Given the description of an element on the screen output the (x, y) to click on. 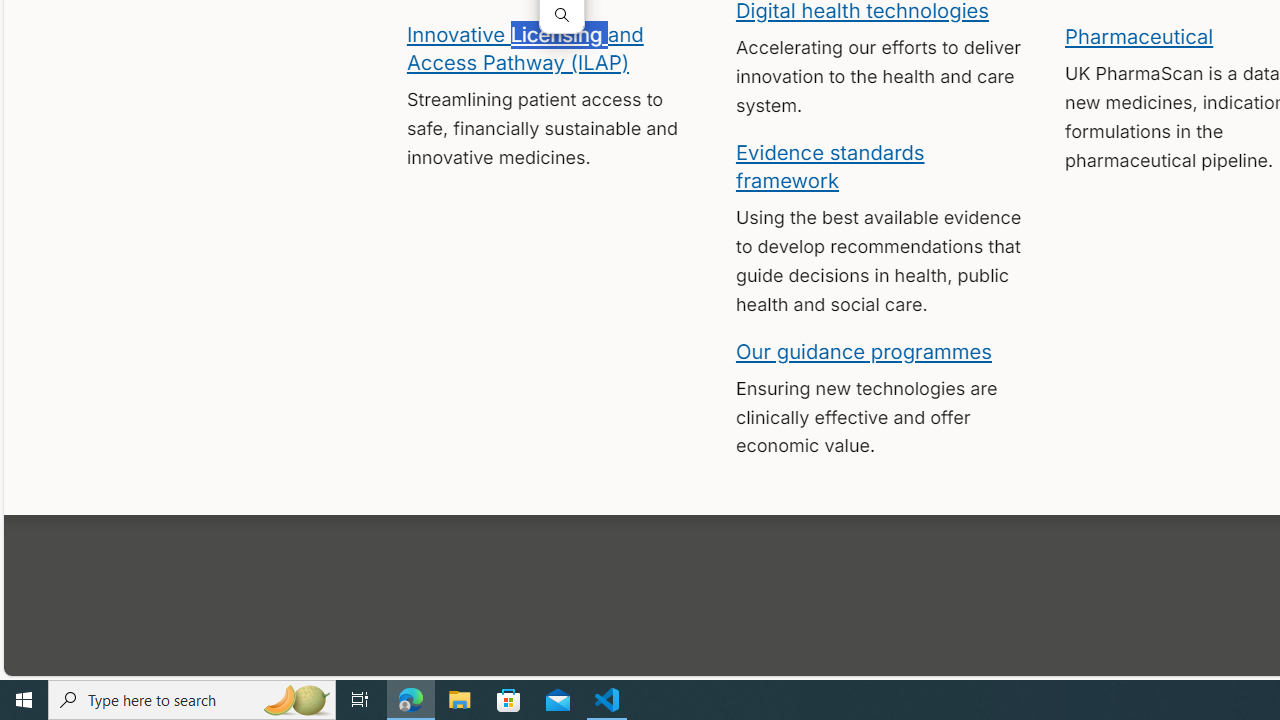
Evidence standards framework (829, 165)
Our guidance programmes (863, 350)
Pharmaceutical (1138, 35)
Innovative Licensing and Access Pathway (ILAP) (524, 47)
